Given the description of an element on the screen output the (x, y) to click on. 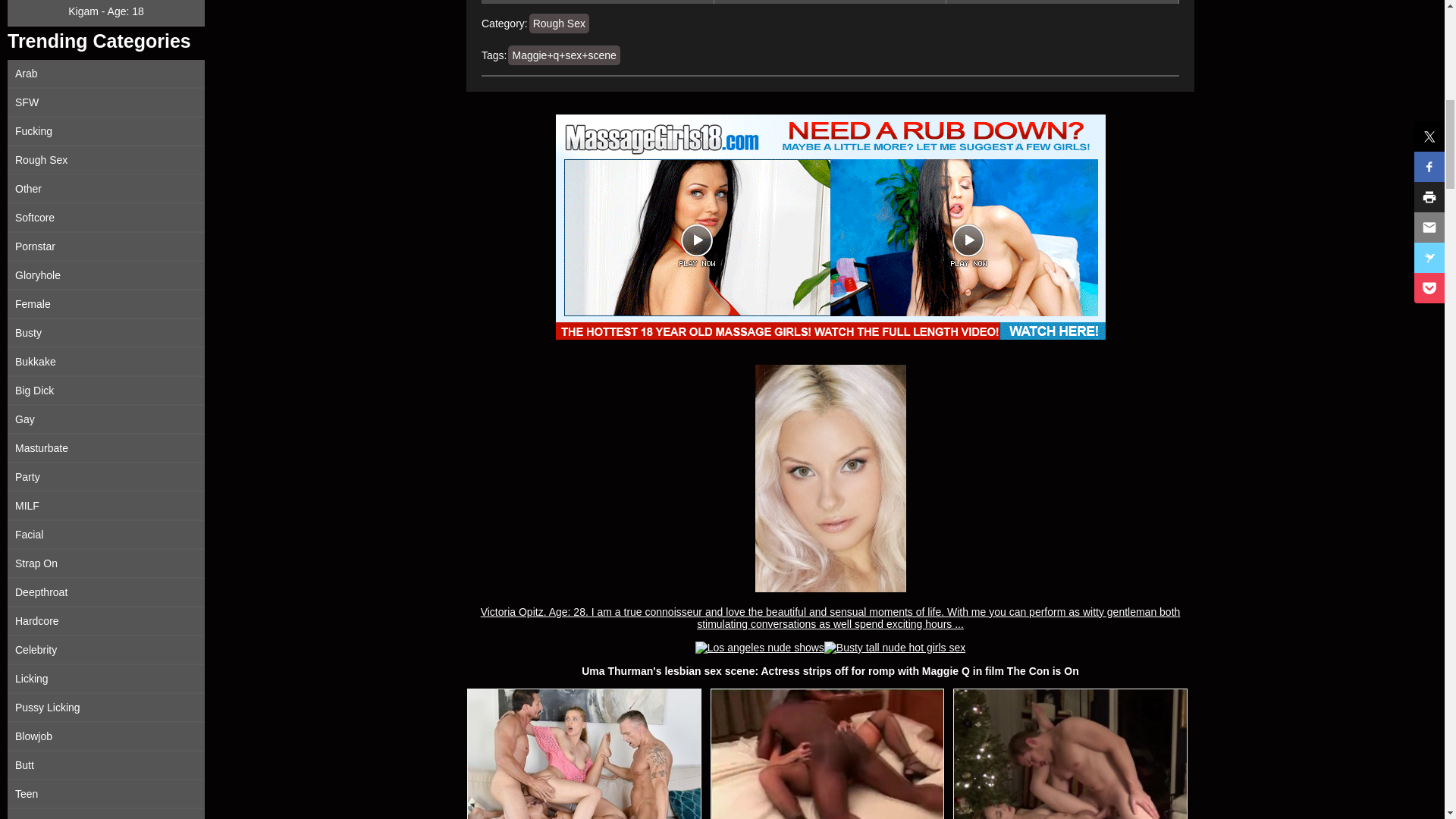
Rough Sex (106, 160)
Hardcore (106, 621)
Party (106, 477)
Butt (106, 765)
Bukkake (106, 362)
Kigam - Age: 18 (106, 13)
Deepthroat (106, 592)
Softcore (106, 217)
Gay (106, 419)
Celebrity (106, 650)
Fucking (106, 131)
Female (106, 304)
Strap On (106, 563)
MILF (106, 506)
Pussy (106, 814)
